Given the description of an element on the screen output the (x, y) to click on. 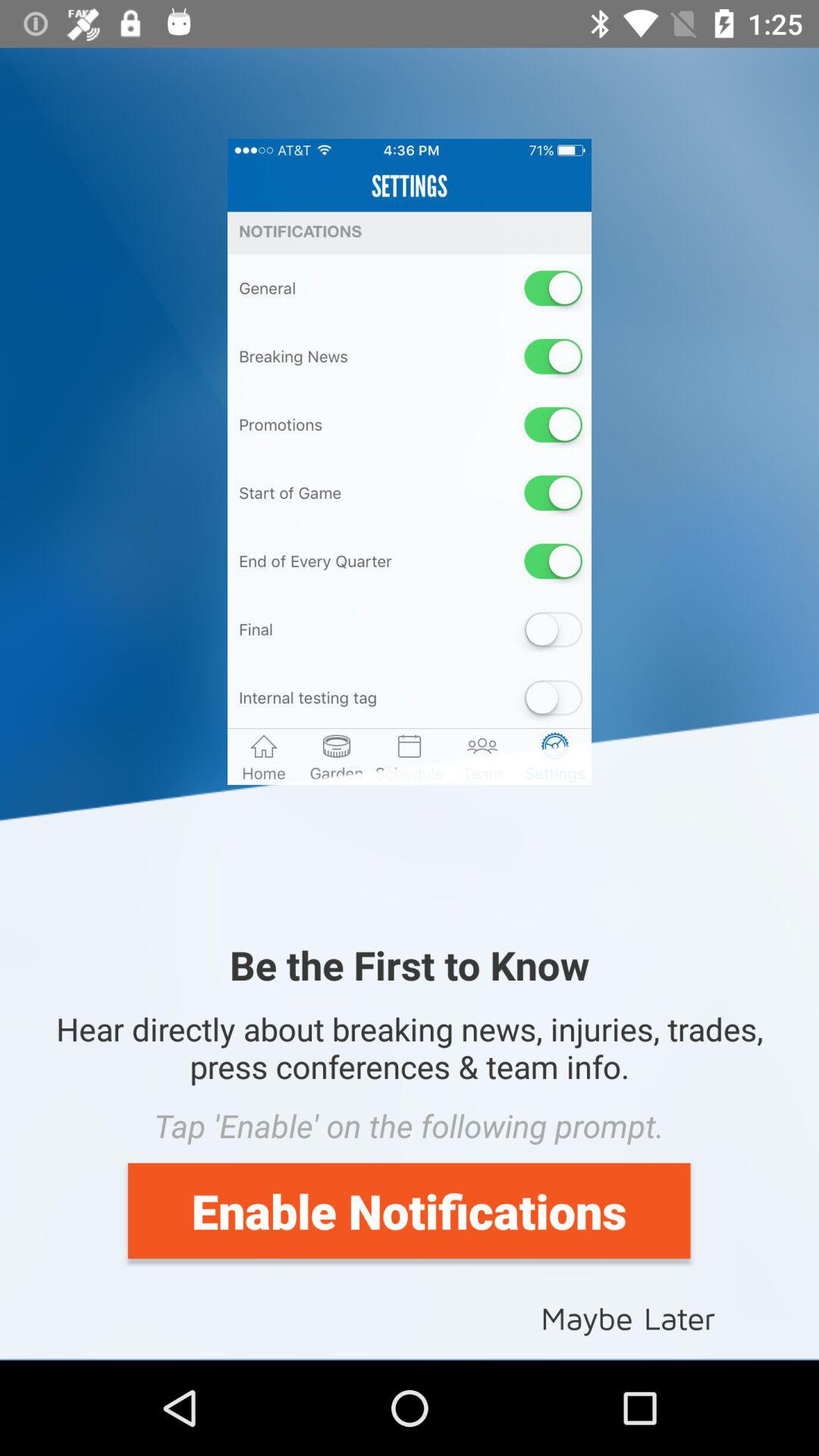
tap the maybe later icon (627, 1317)
